Given the description of an element on the screen output the (x, y) to click on. 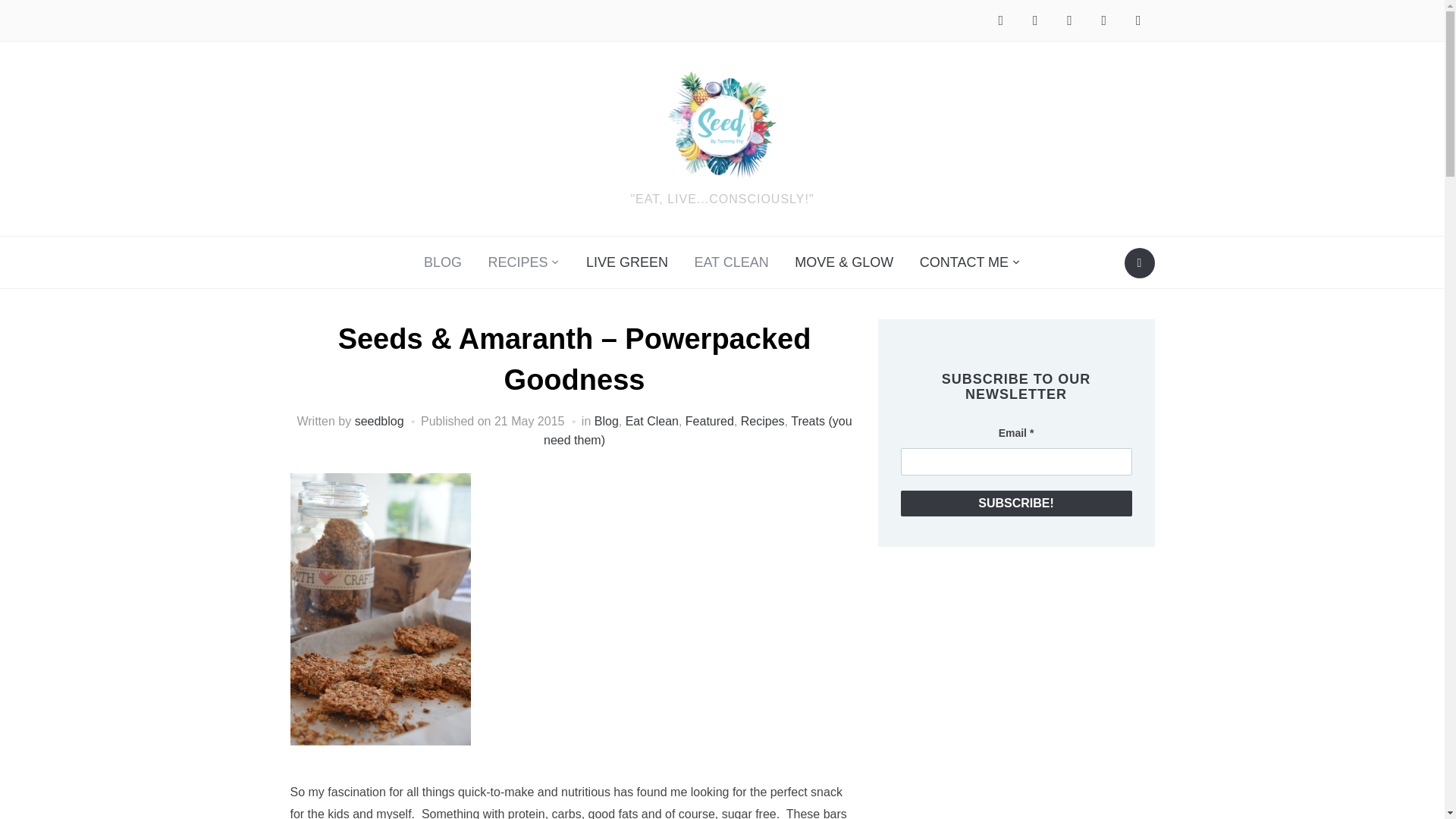
Posts by seedblog (379, 420)
twitter (1035, 19)
Subscribe! (1016, 503)
Friend me on Facebook (1000, 19)
facebook (1000, 19)
Follow Me (1035, 19)
instagram (1070, 19)
mail (1138, 19)
pinterest (1103, 19)
Search (1139, 263)
